Given the description of an element on the screen output the (x, y) to click on. 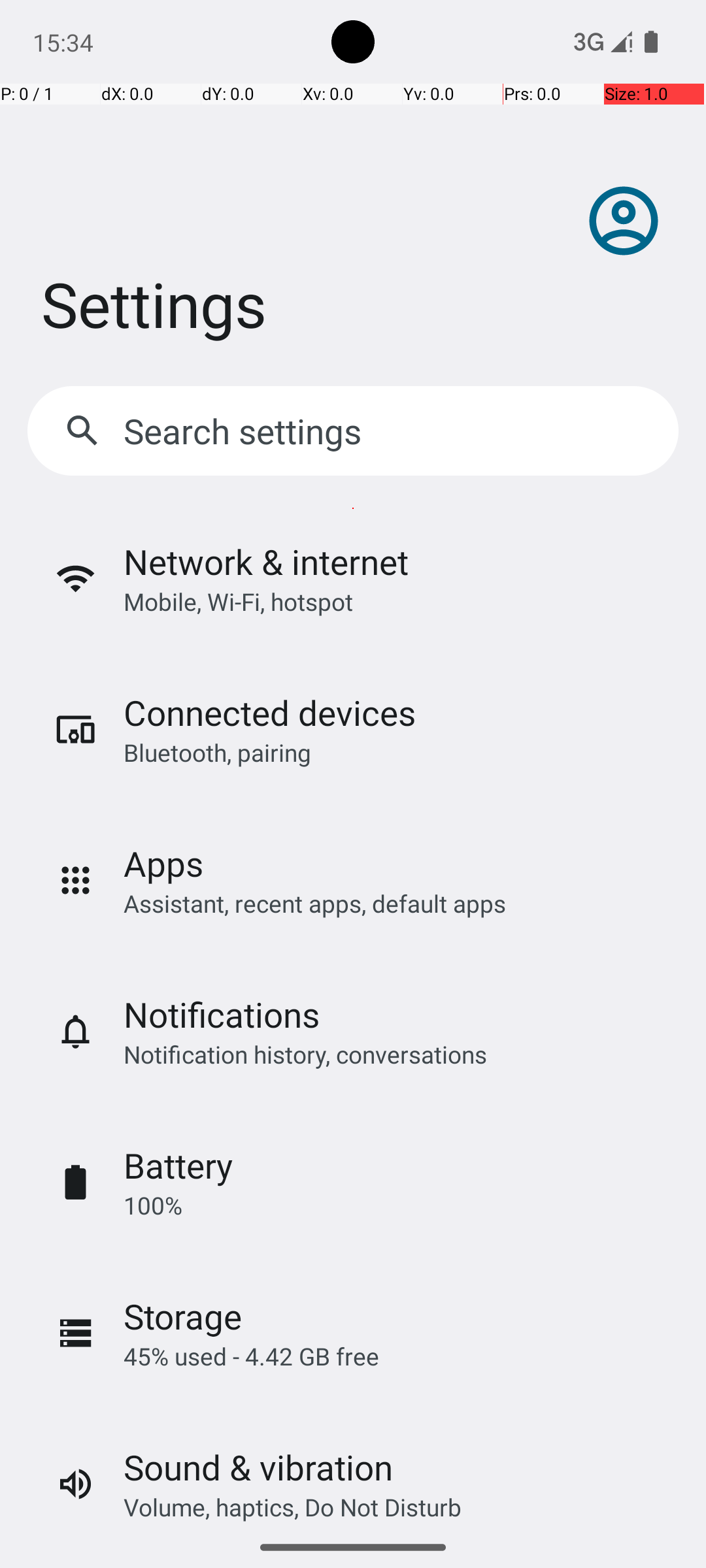
45% used - 4.42 GB free Element type: android.widget.TextView (251, 1355)
